Given the description of an element on the screen output the (x, y) to click on. 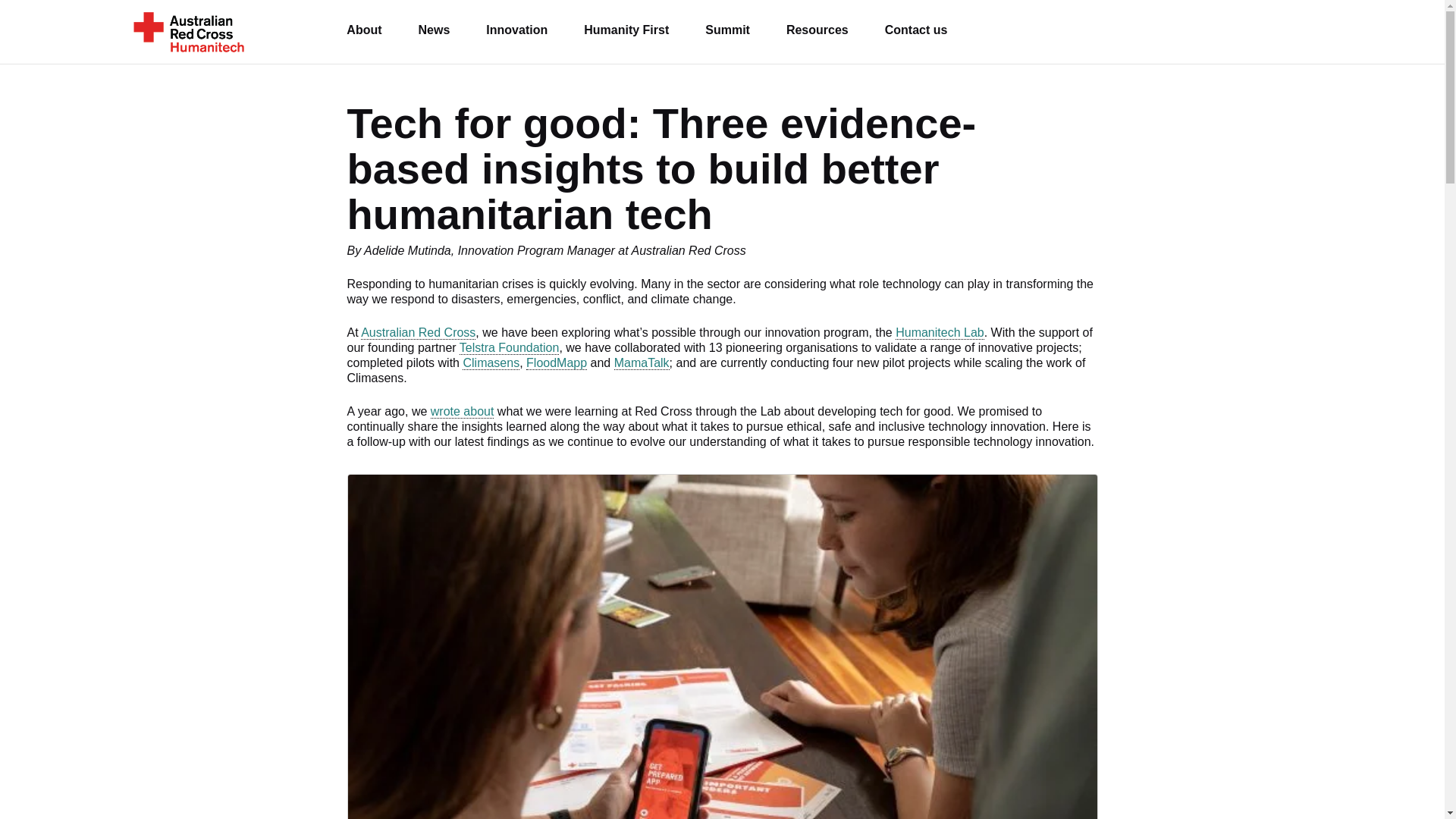
Australian Red Cross (418, 332)
MamaTalk (641, 363)
Innovation (516, 31)
Humanity First (625, 31)
Humanitech Lab (939, 332)
wrote about (462, 411)
Resources (817, 31)
Climasens (491, 363)
Telstra Foundation (509, 347)
Contact us (916, 31)
